Given the description of an element on the screen output the (x, y) to click on. 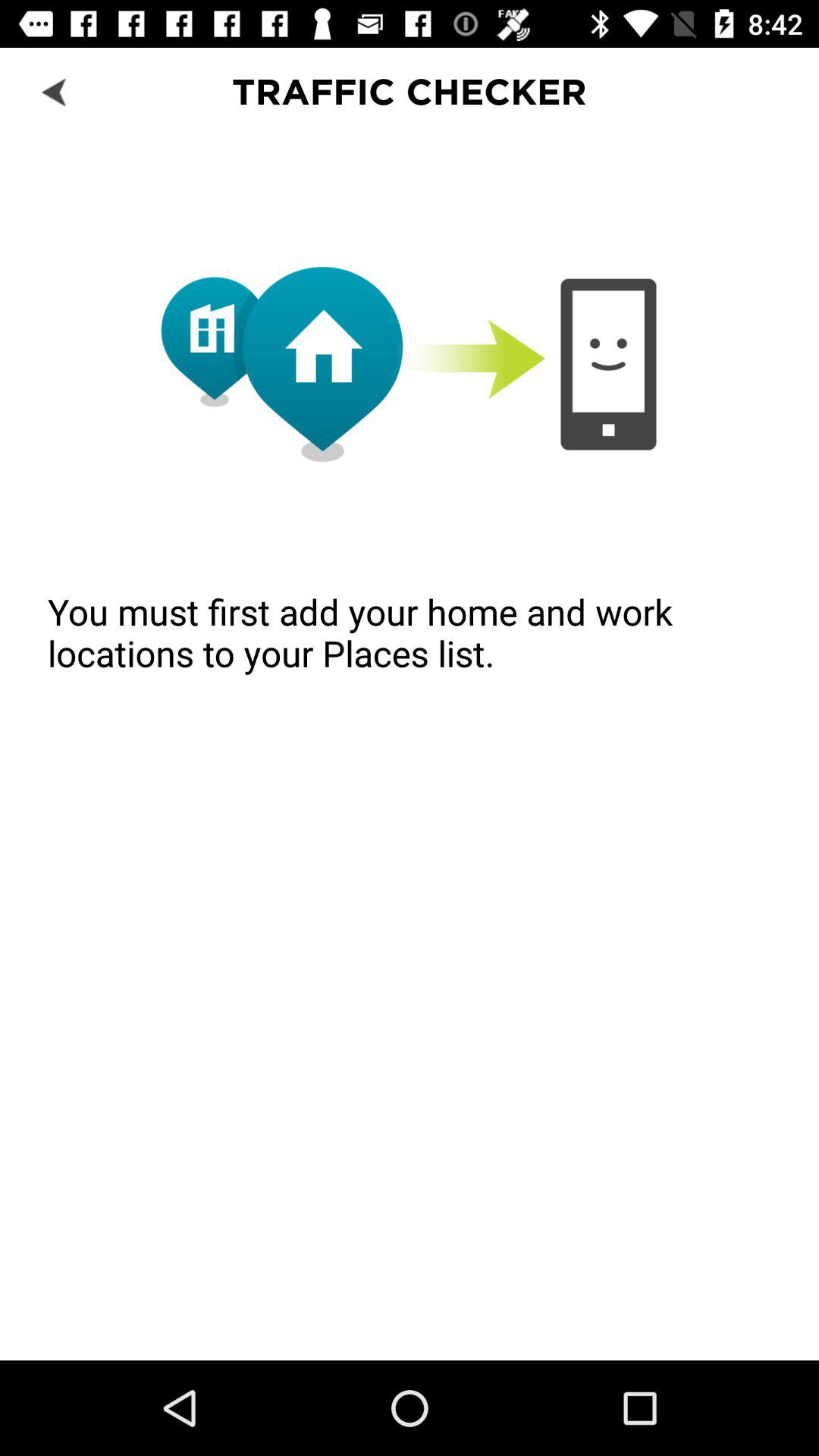
launch icon next to the traffic checker icon (55, 91)
